Given the description of an element on the screen output the (x, y) to click on. 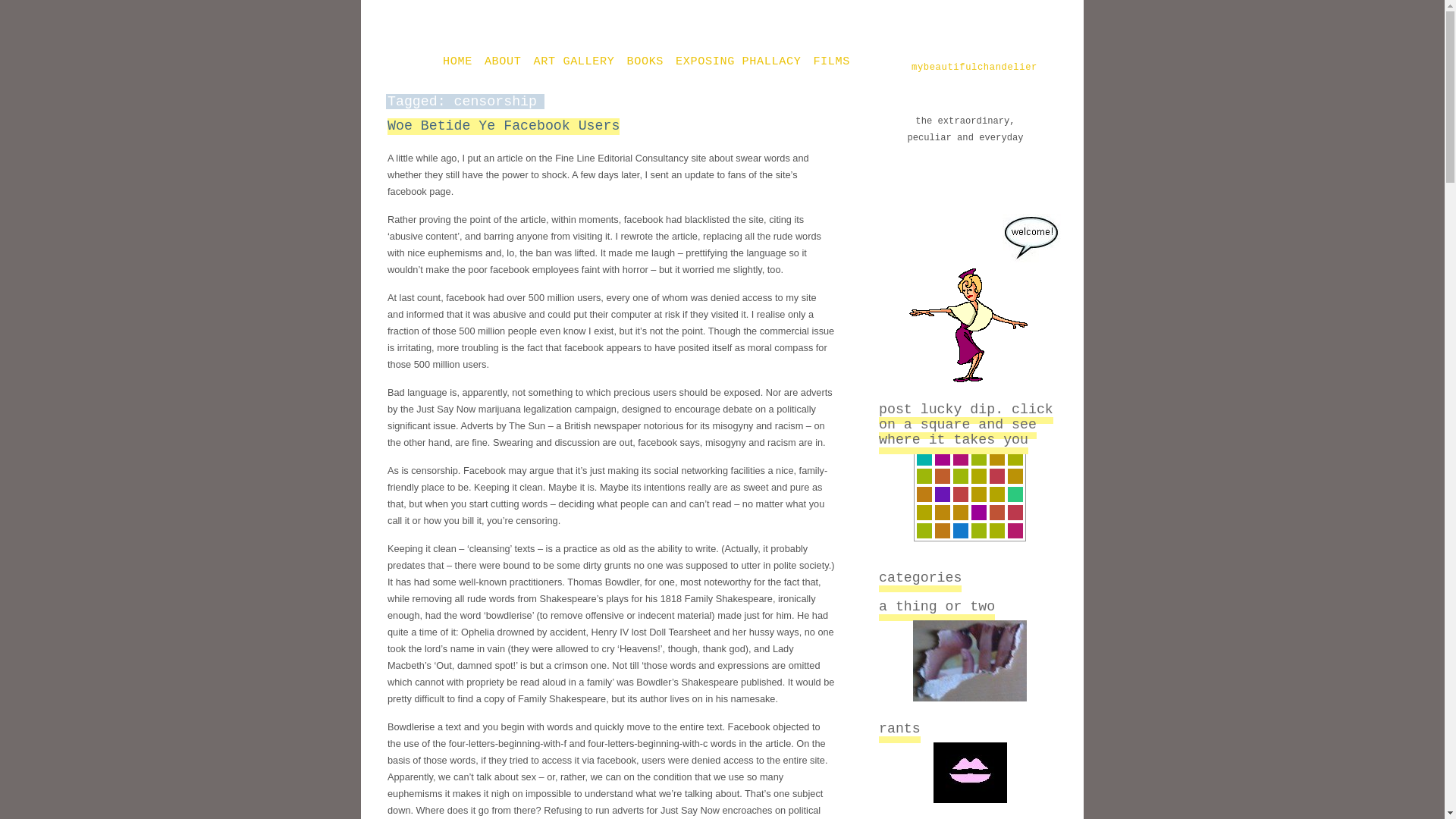
FILMS (831, 62)
ABOUT (503, 62)
HOME (457, 62)
ART GALLERY (574, 62)
mybeautifulchandelier (994, 67)
Woe Betide Ye Facebook Users (503, 125)
EXPOSING PHALLACY (737, 62)
BOOKS (644, 62)
View Woe Betide Ye Facebook Users (503, 125)
